Given the description of an element on the screen output the (x, y) to click on. 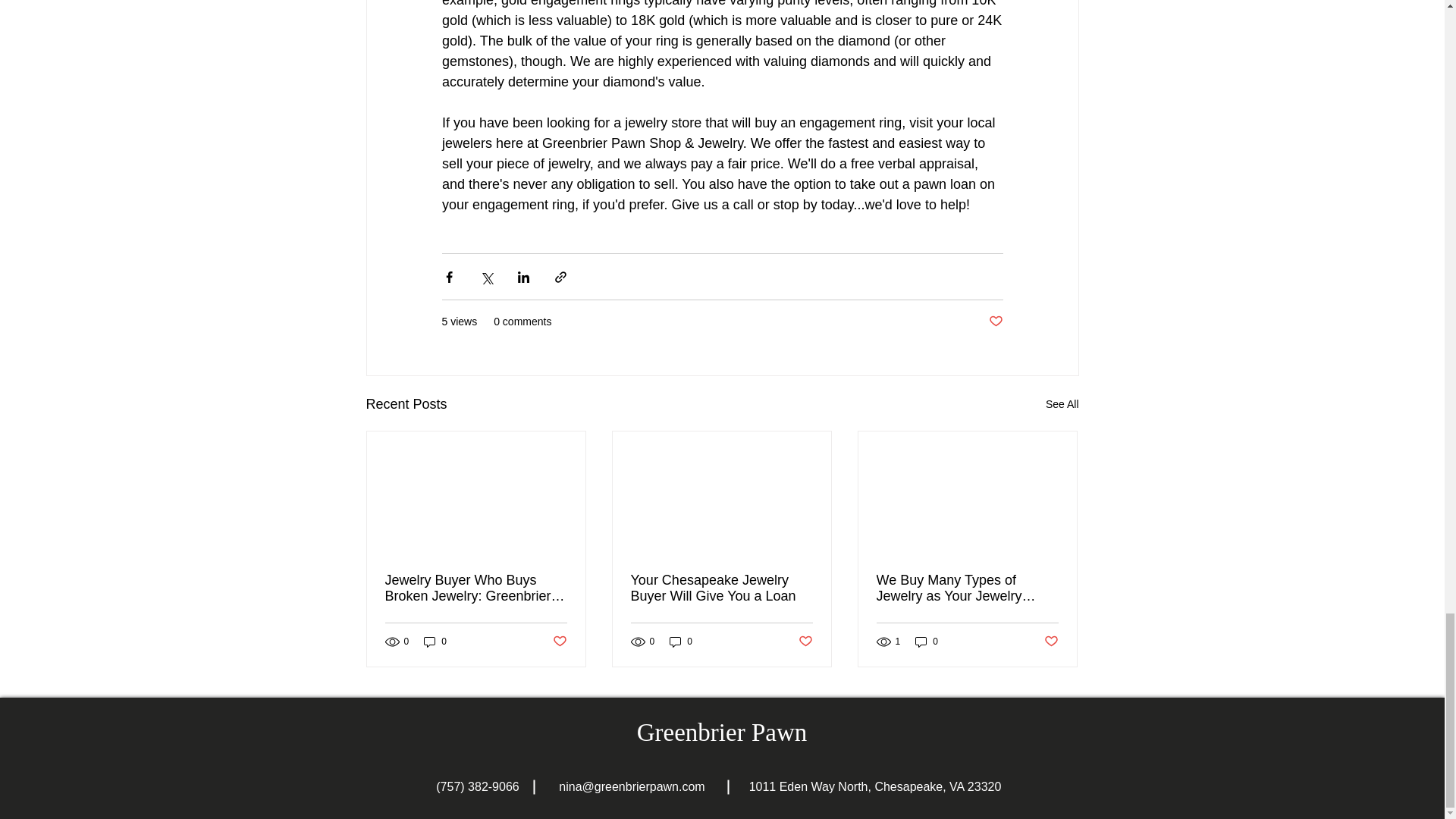
0 (681, 641)
See All (1061, 404)
Post not marked as liked (804, 641)
Jewelry Buyer Who Buys Broken Jewelry: Greenbrier Pawn (476, 588)
Post not marked as liked (558, 641)
Your Chesapeake Jewelry Buyer Will Give You a Loan (721, 588)
0 (926, 641)
We Buy Many Types of Jewelry as Your Jewelry Buyer (967, 588)
Post not marked as liked (995, 321)
Post not marked as liked (1050, 641)
0 (435, 641)
